Given the description of an element on the screen output the (x, y) to click on. 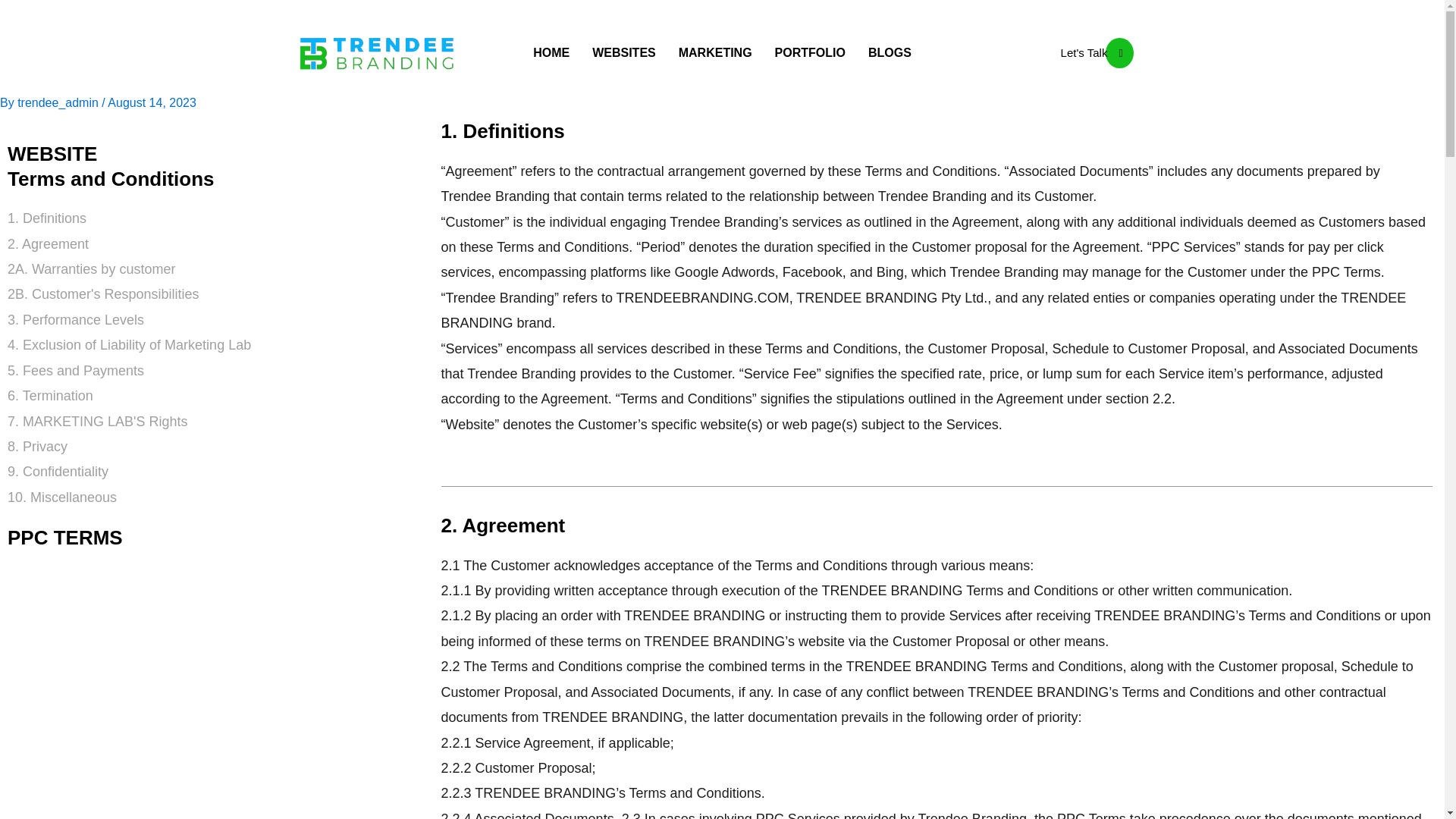
Let's Talk (1091, 52)
6. Termination (216, 396)
2B. Customer's Responsibilities (216, 294)
4. Exclusion of Liability of Marketing Lab (216, 344)
2. Agreement (216, 244)
5. Fees and Payments (216, 371)
8. Privacy (216, 446)
HOME (550, 53)
PORTFOLIO (809, 53)
WEBSITES (623, 53)
